Given the description of an element on the screen output the (x, y) to click on. 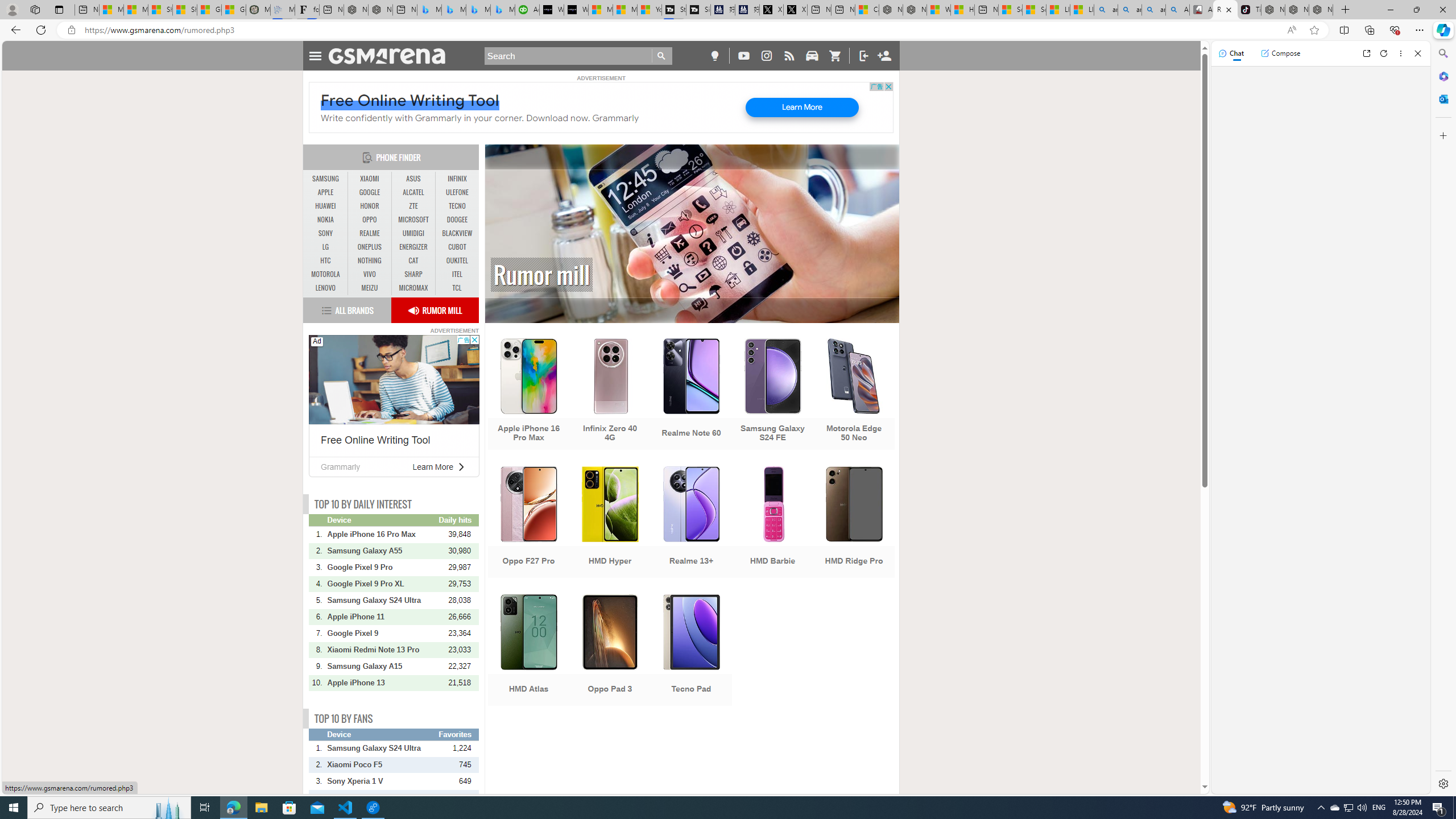
Chat (1231, 52)
ENERGIZER (413, 246)
HMD Barbie (772, 523)
ASUS (413, 178)
LENOVO (325, 287)
HMD Atlas (528, 651)
Open link in new tab (1366, 53)
OUKITEL (457, 260)
ONEPLUS (369, 246)
INFINIX (457, 178)
HONOR (369, 205)
ONEPLUS (369, 246)
Apple iPhone 16 Pro Max (381, 534)
